Given the description of an element on the screen output the (x, y) to click on. 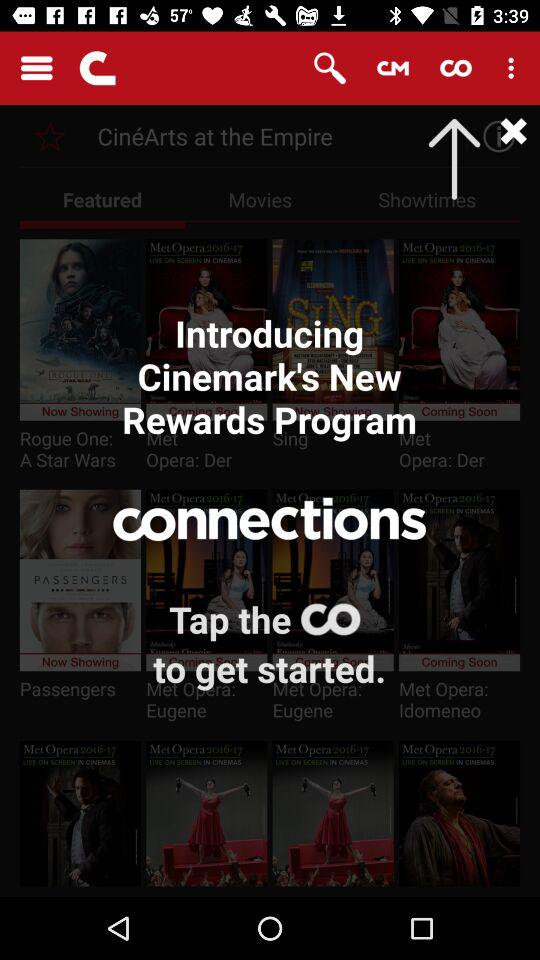
more info (493, 136)
